Given the description of an element on the screen output the (x, y) to click on. 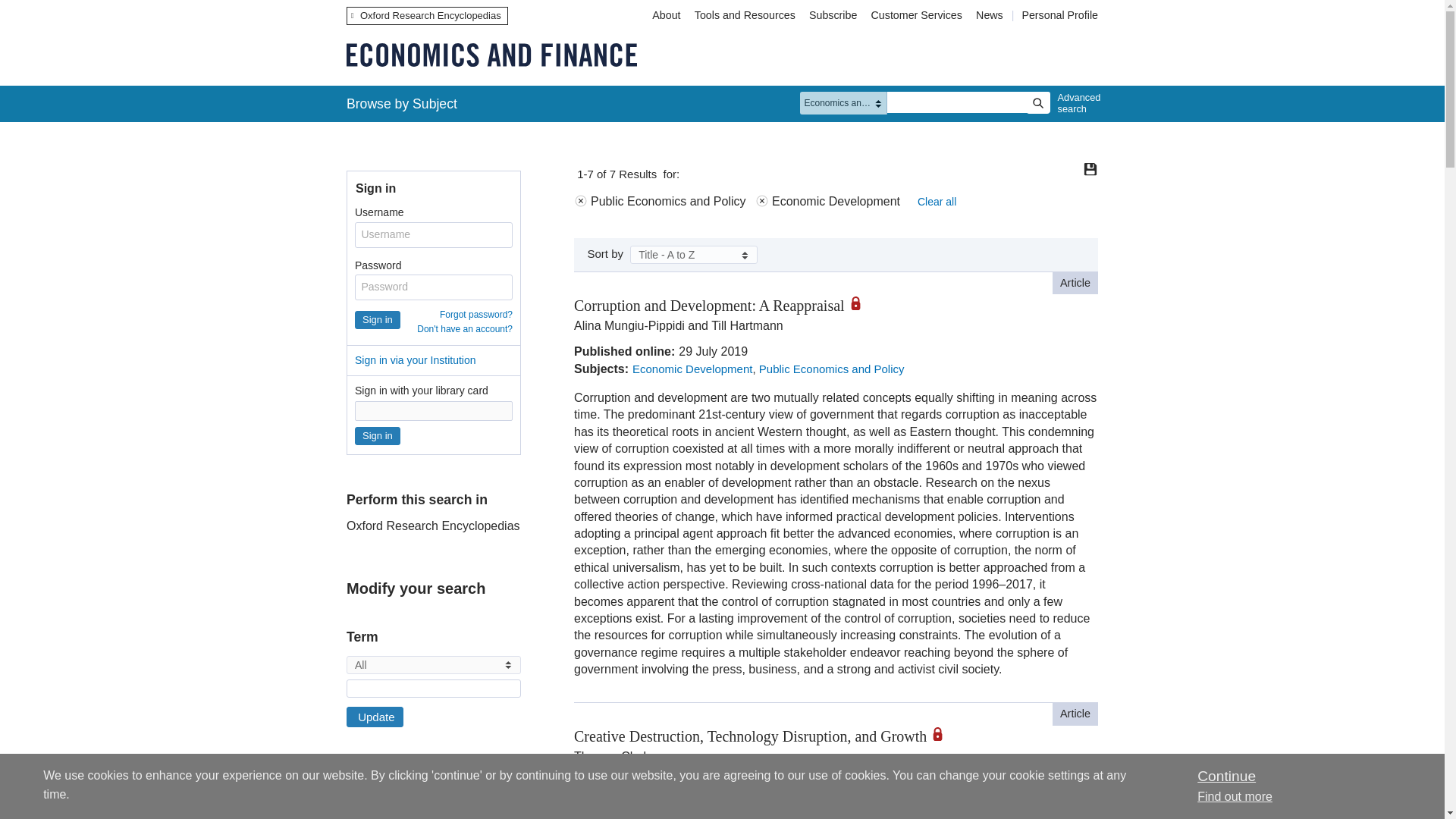
Browse by Subject (401, 103)
Advanced search (1075, 103)
Subject Reference (351, 809)
News (991, 15)
Continue (1225, 775)
Close this message (1225, 775)
Search (1037, 102)
Sign in (377, 434)
Tools and Resources (744, 15)
Customer Services (917, 15)
Oxford Research Encyclopedia of Economics and Finance (491, 54)
Forgot password? (475, 314)
Search (1037, 102)
restricted access (861, 303)
Save (1090, 168)
